Given the description of an element on the screen output the (x, y) to click on. 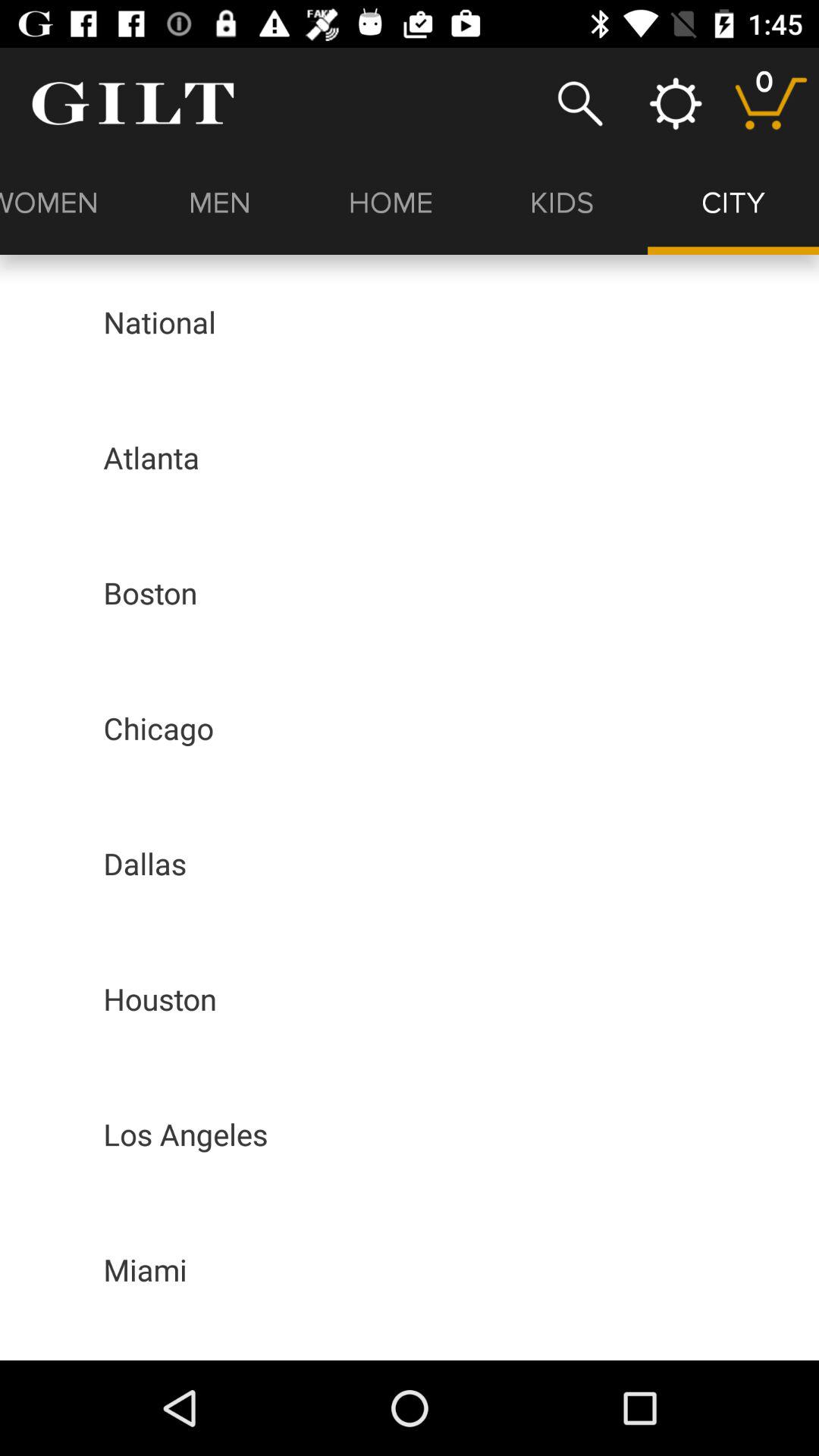
turn off dallas (144, 863)
